Given the description of an element on the screen output the (x, y) to click on. 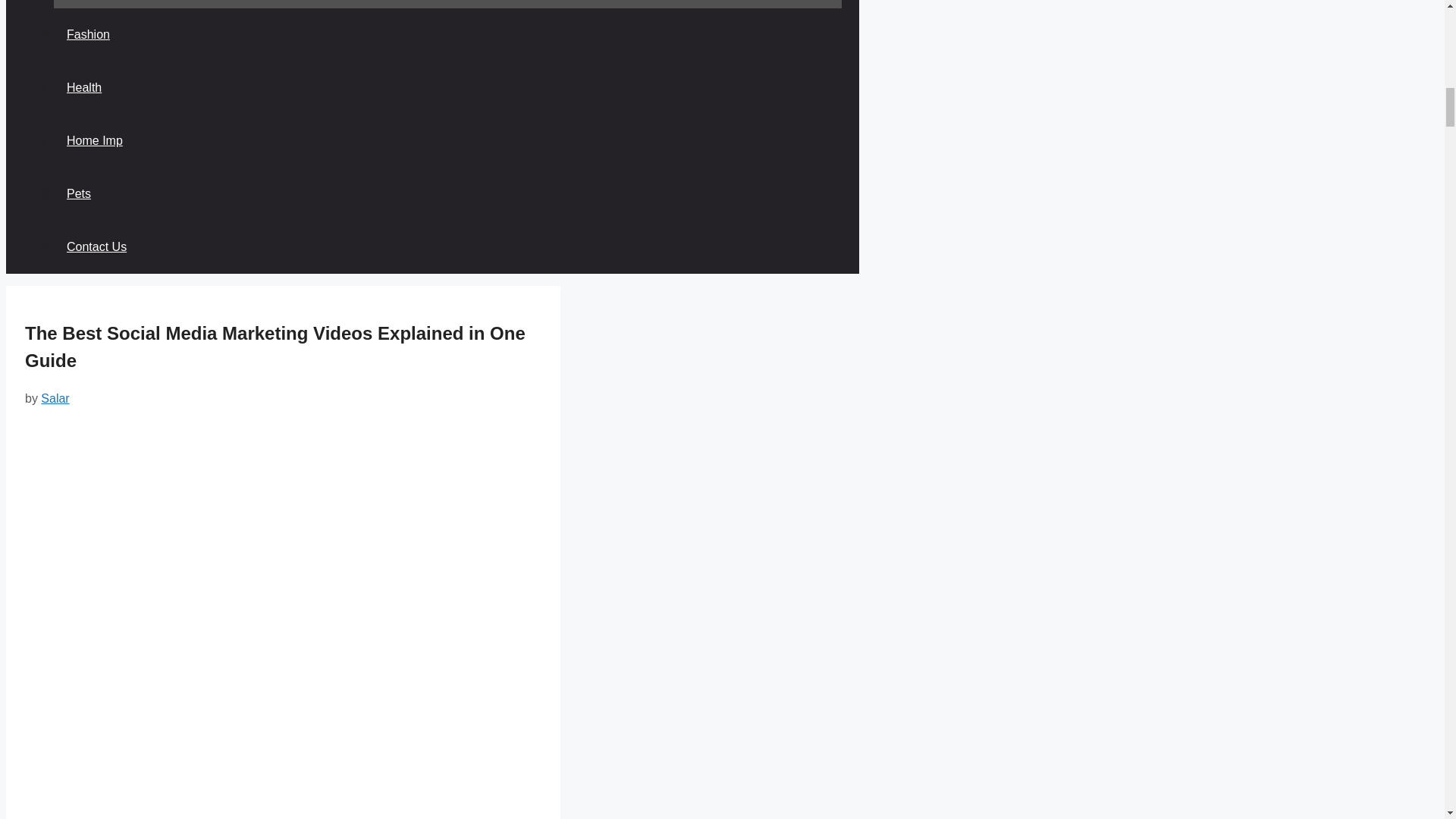
Pets (78, 193)
Fashion (87, 33)
Salar (54, 398)
Home Imp (94, 140)
Contact Us (96, 246)
Health (84, 87)
View all posts by Salar (54, 398)
